Given the description of an element on the screen output the (x, y) to click on. 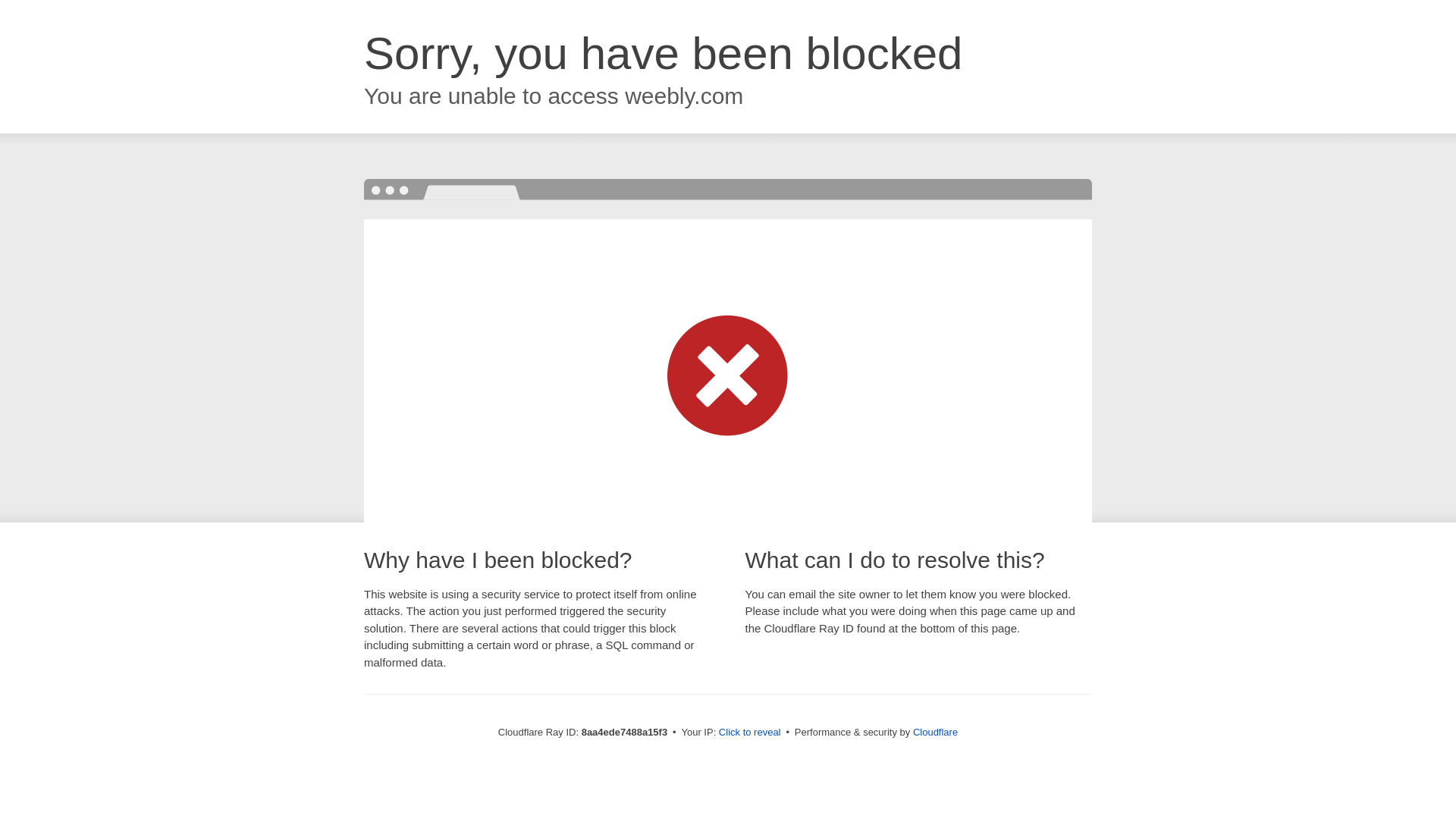
Click to reveal (749, 732)
Cloudflare (935, 731)
